Given the description of an element on the screen output the (x, y) to click on. 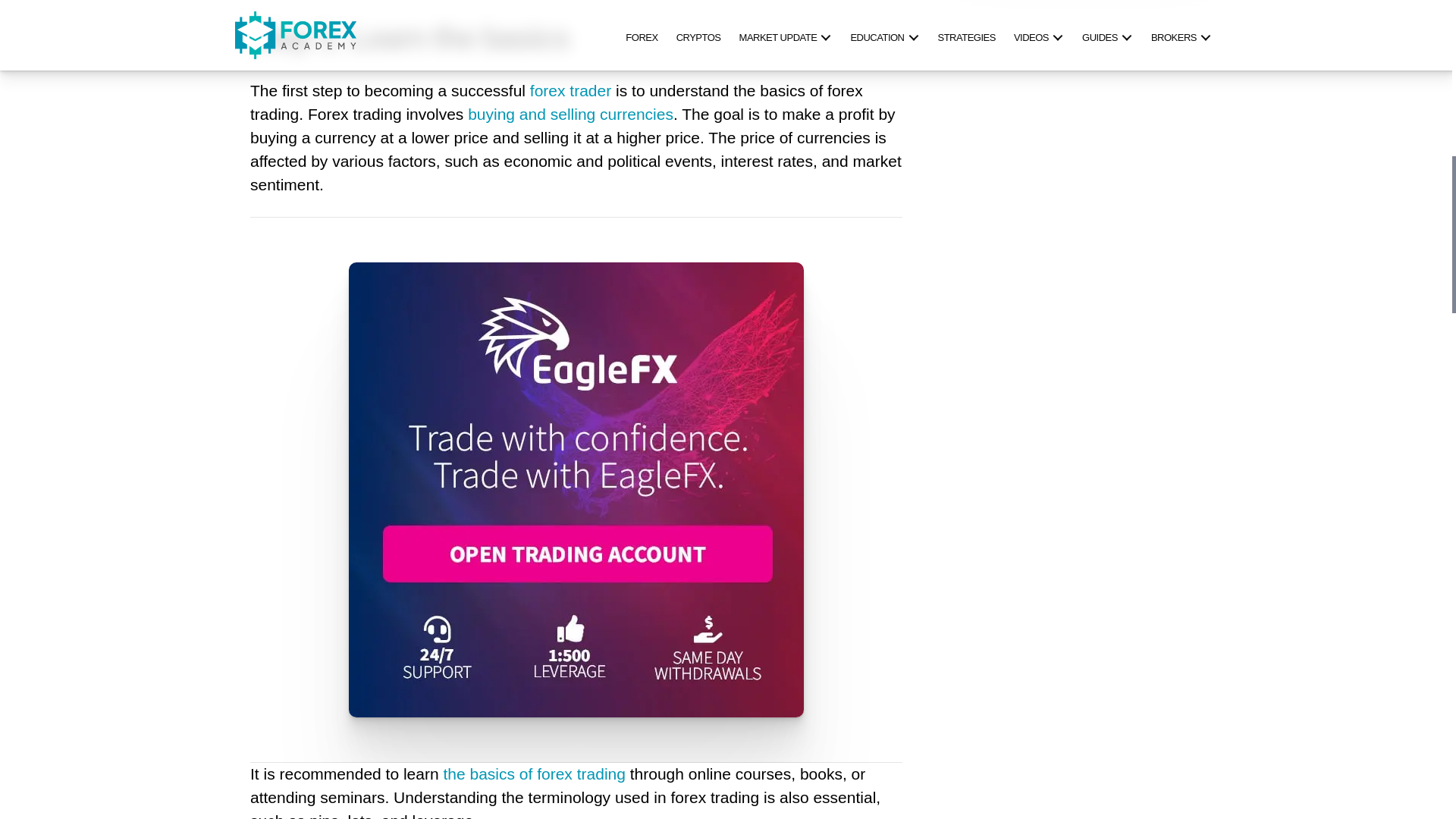
buying and selling currencies (569, 114)
forex trader (570, 91)
the basics of forex trading (533, 774)
